Given the description of an element on the screen output the (x, y) to click on. 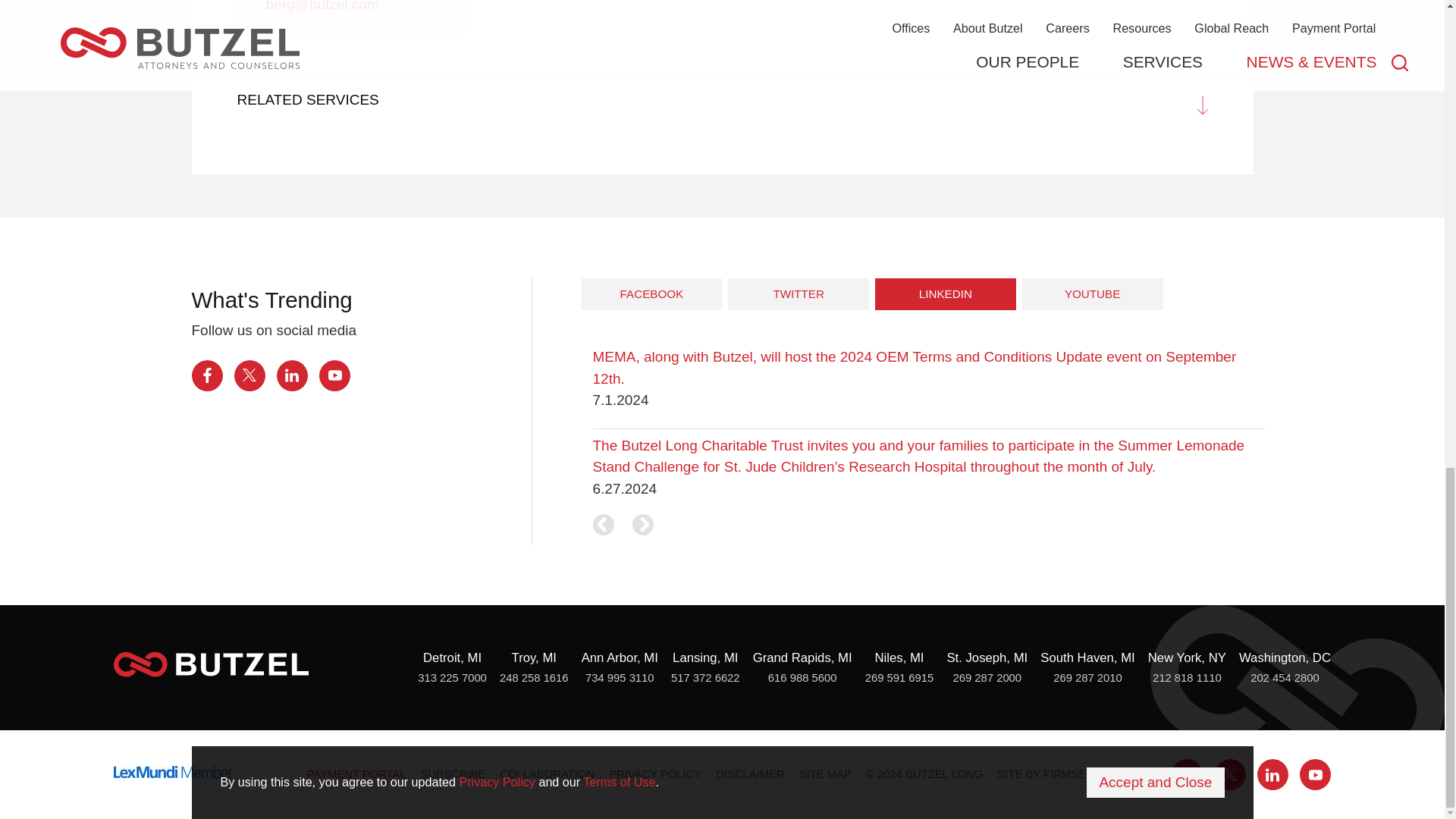
YouTube (334, 375)
Facebook (206, 375)
X (1230, 774)
LinkedIn (291, 375)
X (249, 375)
Facebook (1187, 774)
Butzel Long (210, 664)
YouTube (1315, 774)
LinkedIn (1272, 774)
